Given the description of an element on the screen output the (x, y) to click on. 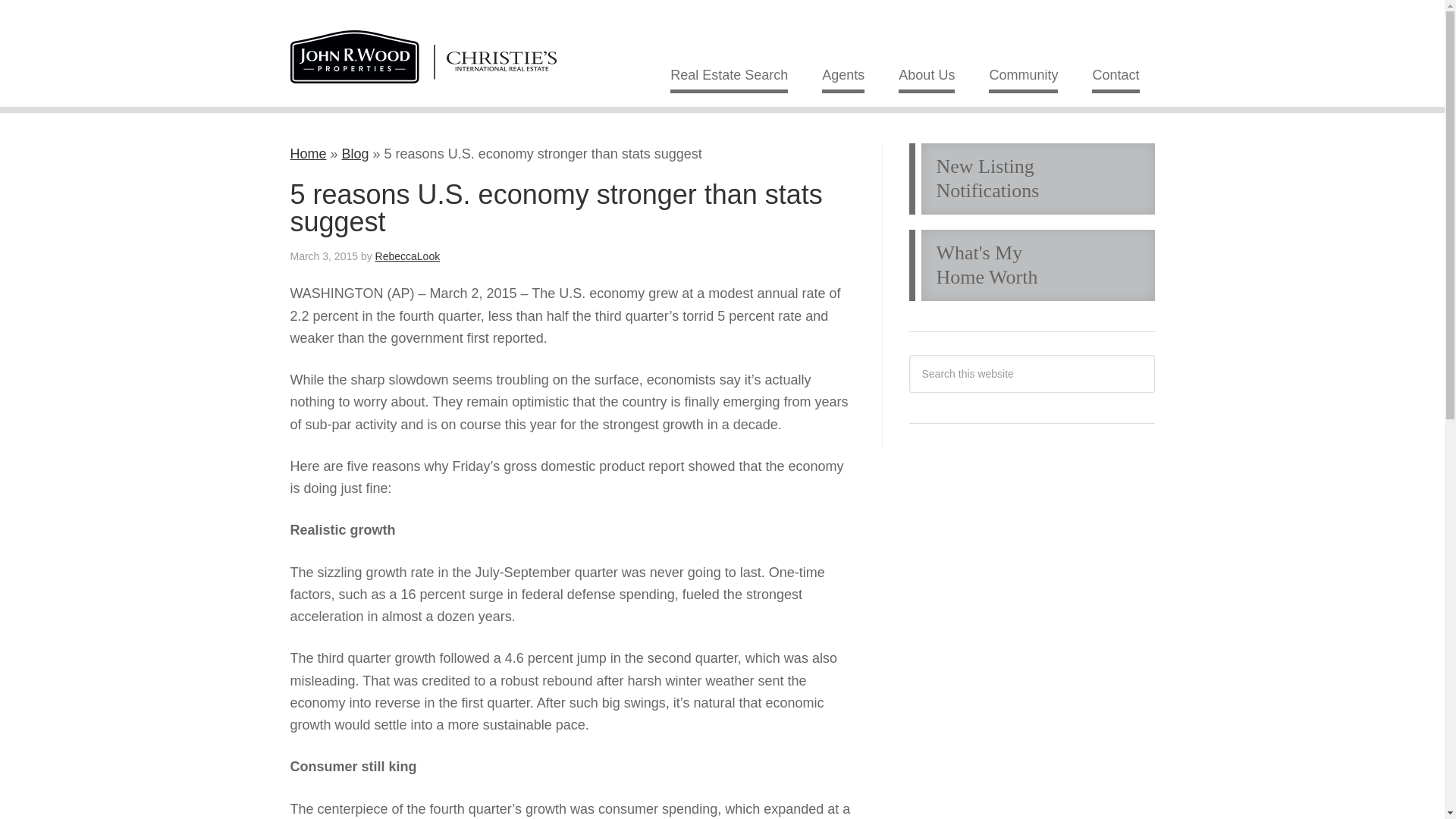
Home (307, 153)
Contact (1115, 79)
RebeccaLook (408, 256)
Real Estate Search (728, 79)
Community (1023, 79)
New Listing Notifications (1031, 178)
Blog (355, 153)
Agents (843, 79)
About Us (1031, 265)
